Given the description of an element on the screen output the (x, y) to click on. 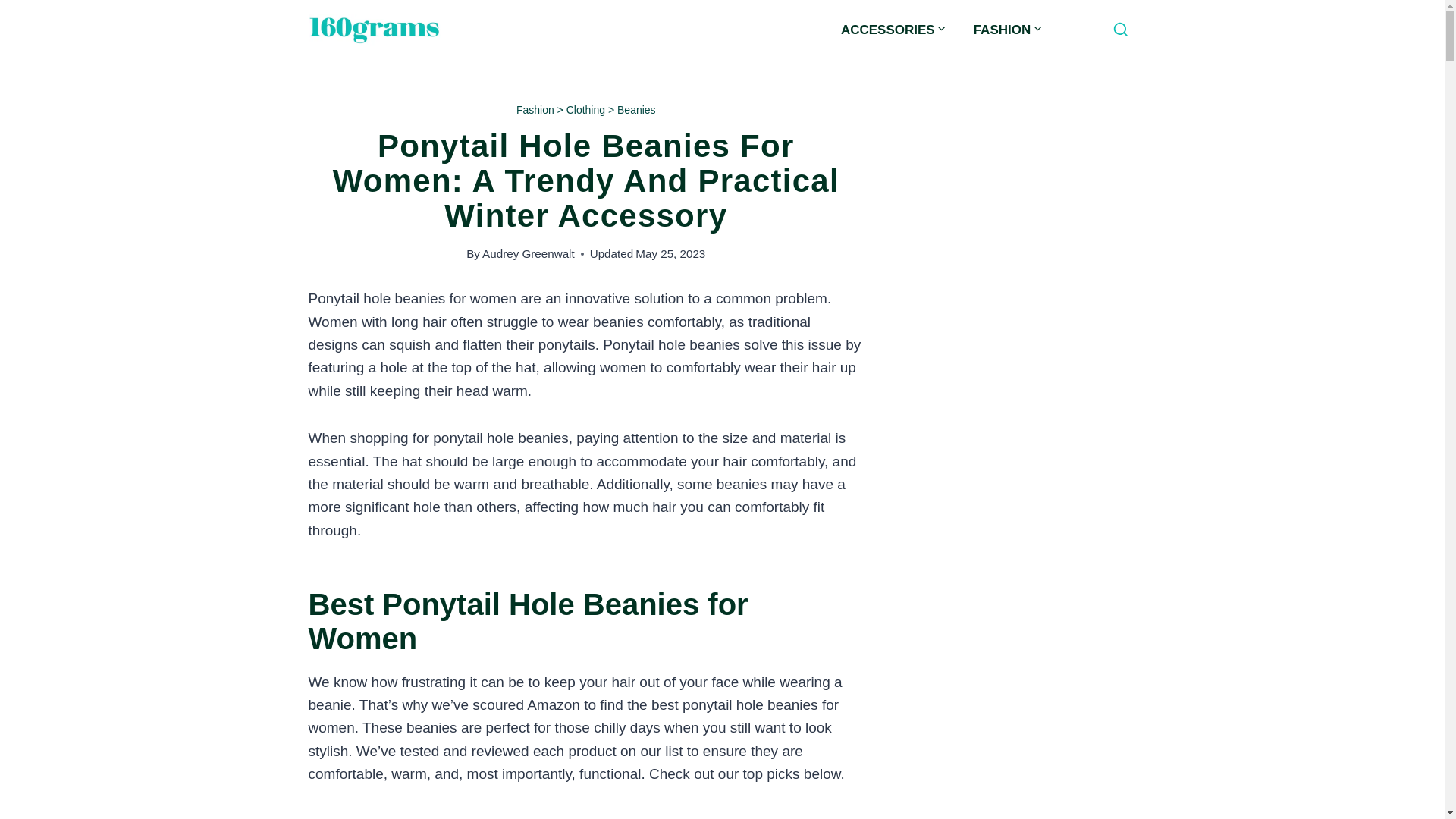
FASHION Element type: text (1008, 30)
Fashion Element type: text (535, 109)
Audrey Greenwalt Element type: text (528, 253)
ACCESSORIES Element type: text (894, 30)
Beanies Element type: text (636, 109)
Clothing Element type: text (585, 109)
